Given the description of an element on the screen output the (x, y) to click on. 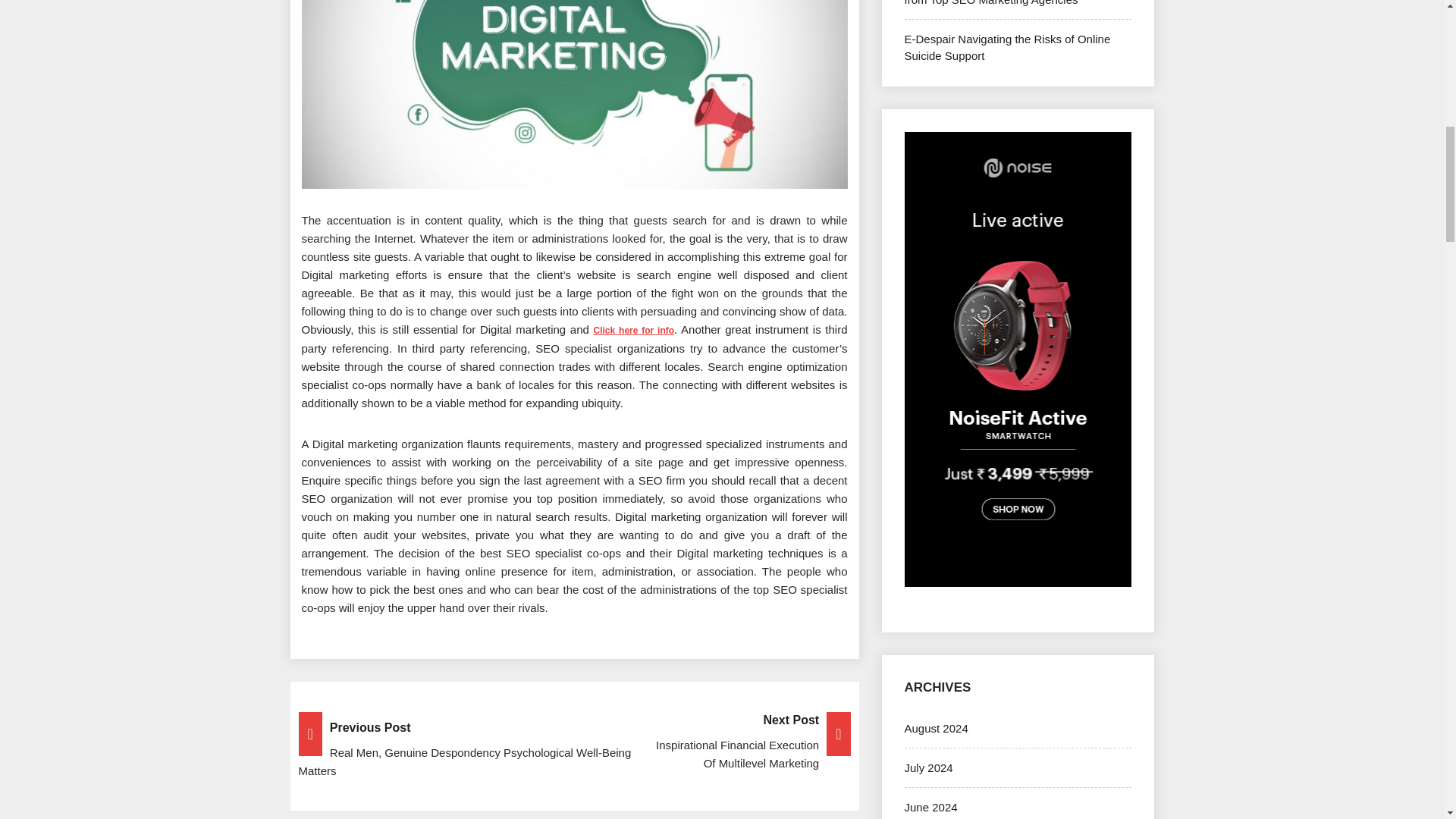
August 2024 (936, 727)
July 2024 (928, 767)
June 2024 (930, 807)
Click here for info (634, 330)
E-Despair Navigating the Risks of Online Suicide Support (1006, 46)
